Given the description of an element on the screen output the (x, y) to click on. 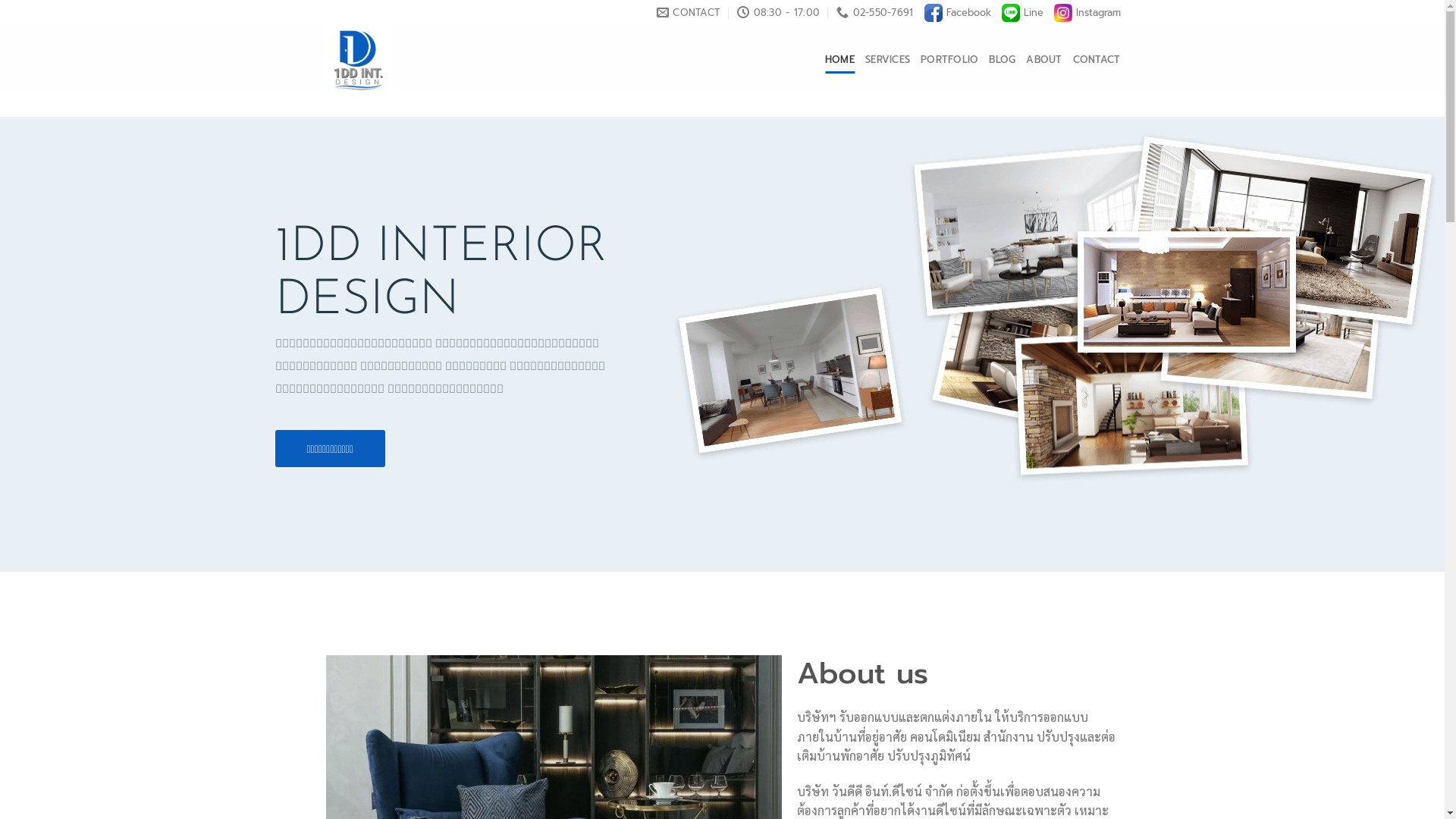
08:30 - 17:00 Element type: text (778, 12)
Facebook Element type: text (956, 12)
BLOG Element type: text (1001, 59)
Line Element type: text (1021, 12)
CONTACT Element type: text (688, 12)
PORTFOLIO Element type: text (949, 59)
SERVICES Element type: text (887, 59)
02-550-7691 Element type: text (874, 12)
CONTACT Element type: text (1096, 59)
ABOUT Element type: text (1043, 59)
HOME Element type: text (839, 59)
Instagram Element type: text (1087, 12)
